Given the description of an element on the screen output the (x, y) to click on. 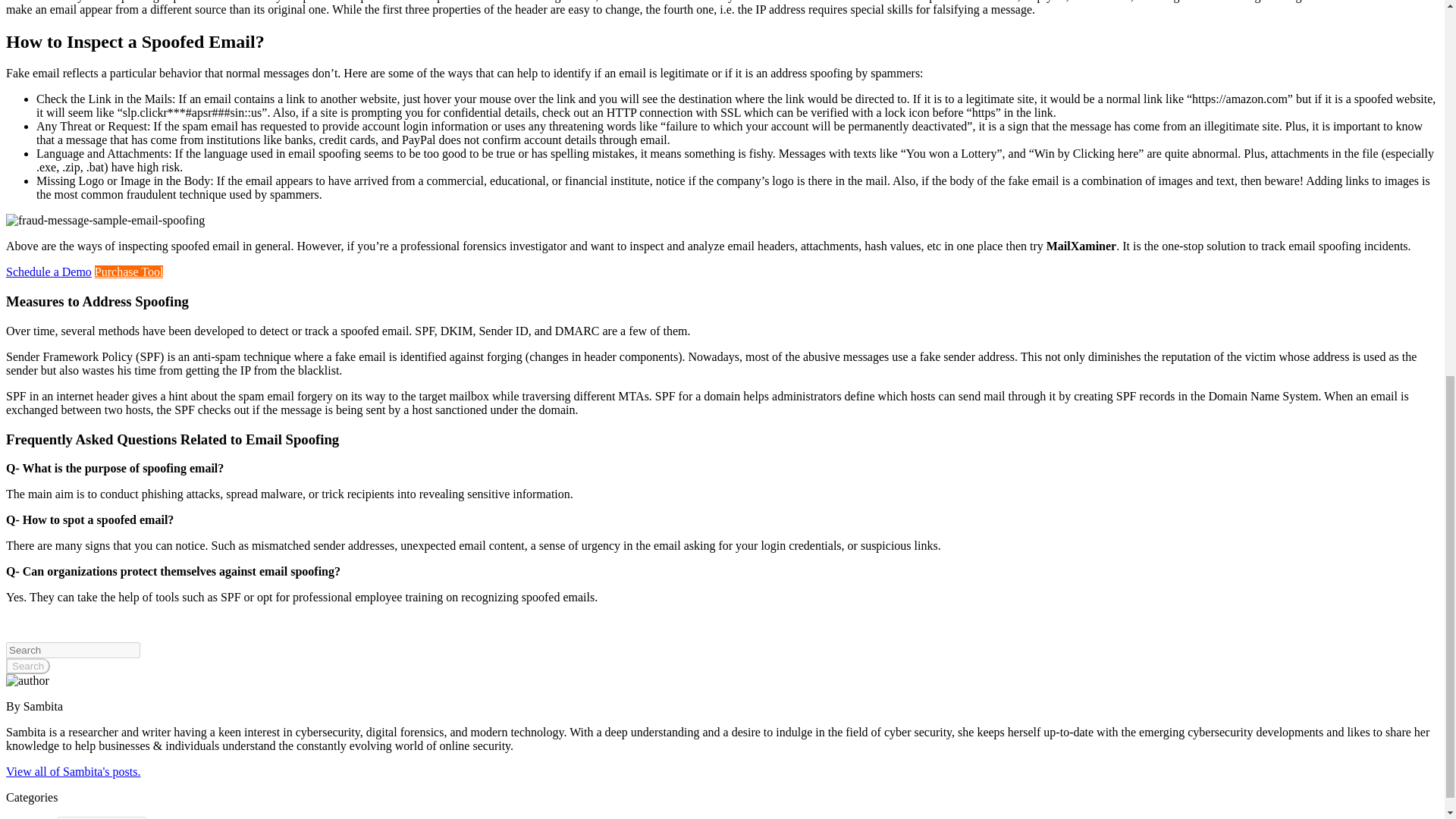
Schedule a Demo (48, 271)
View all of Sambita's posts. (72, 771)
Search (27, 666)
Purchase Tool (128, 271)
